Given the description of an element on the screen output the (x, y) to click on. 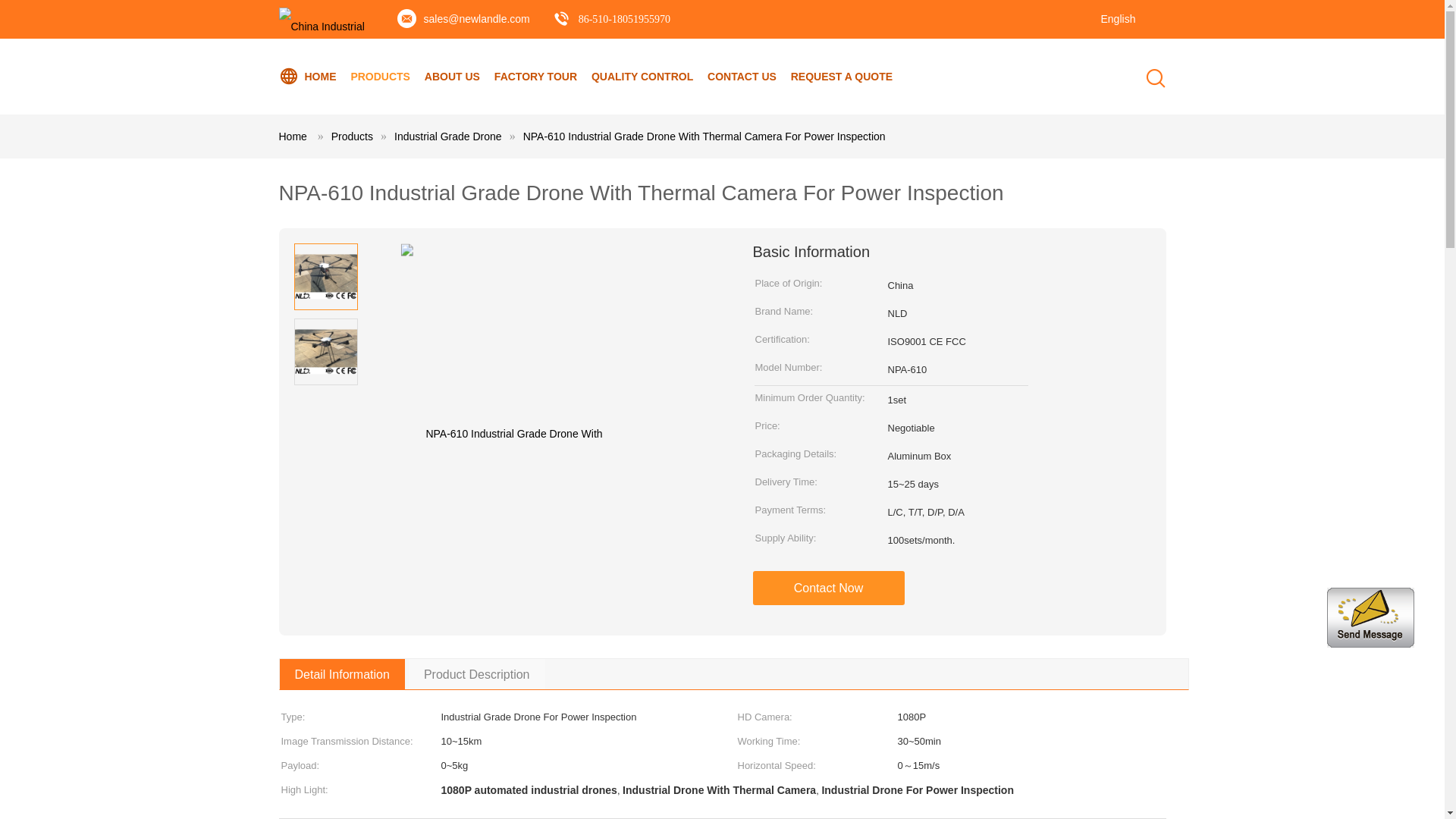
English (1109, 12)
FACTORY TOUR (535, 76)
